Given the description of an element on the screen output the (x, y) to click on. 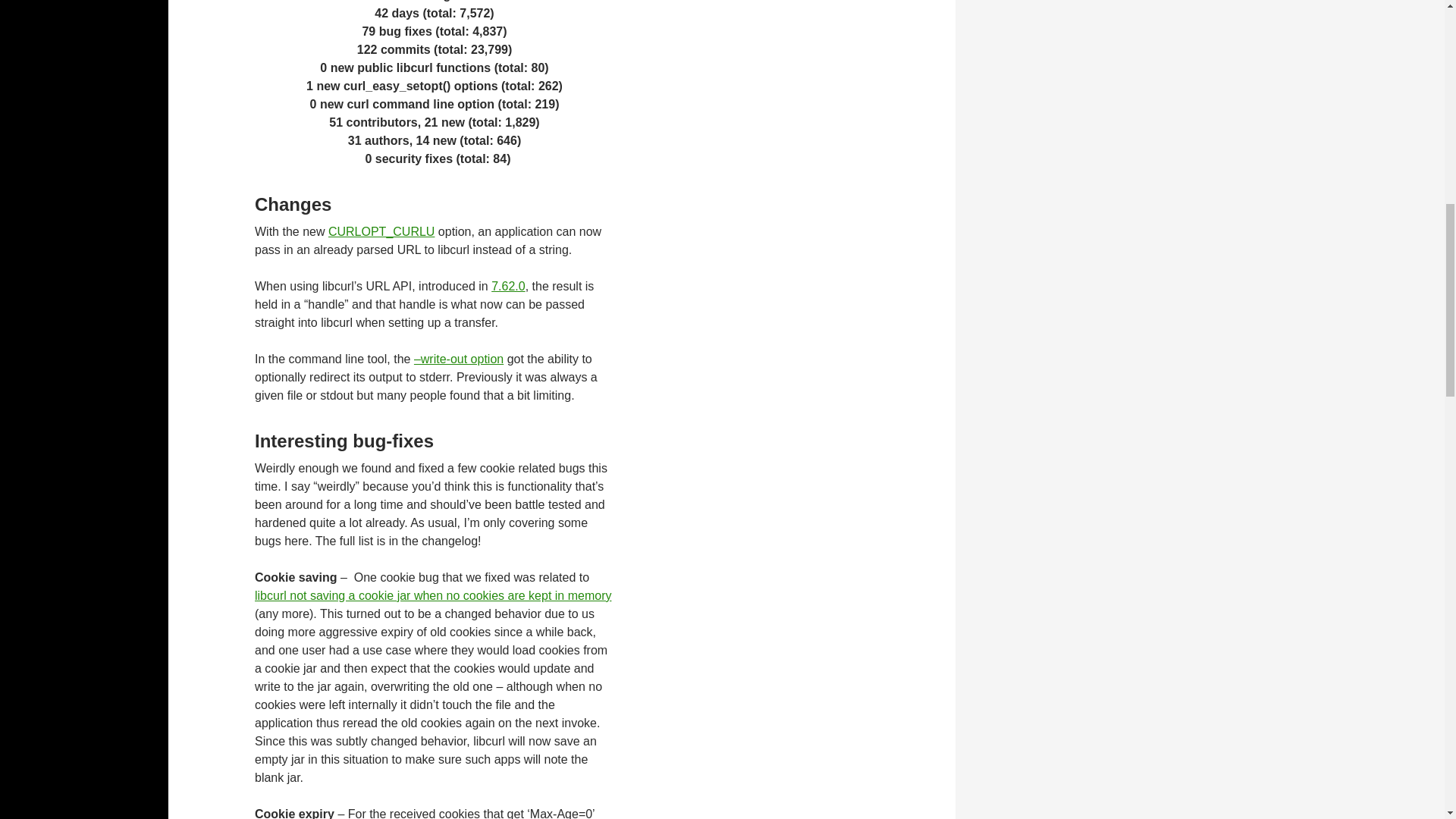
7.62.0 (508, 286)
